Given the description of an element on the screen output the (x, y) to click on. 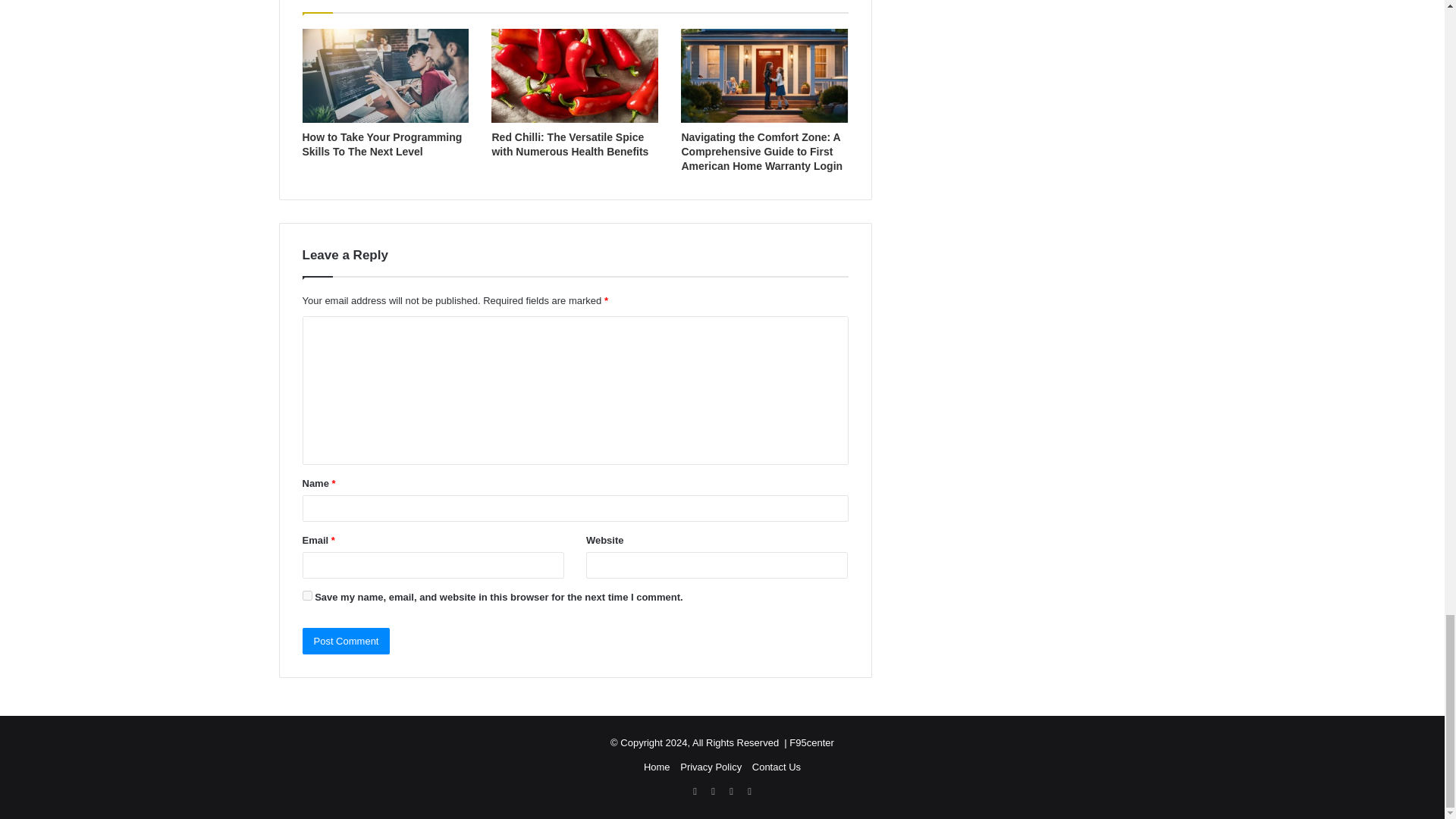
Post Comment (345, 641)
yes (306, 595)
